Given the description of an element on the screen output the (x, y) to click on. 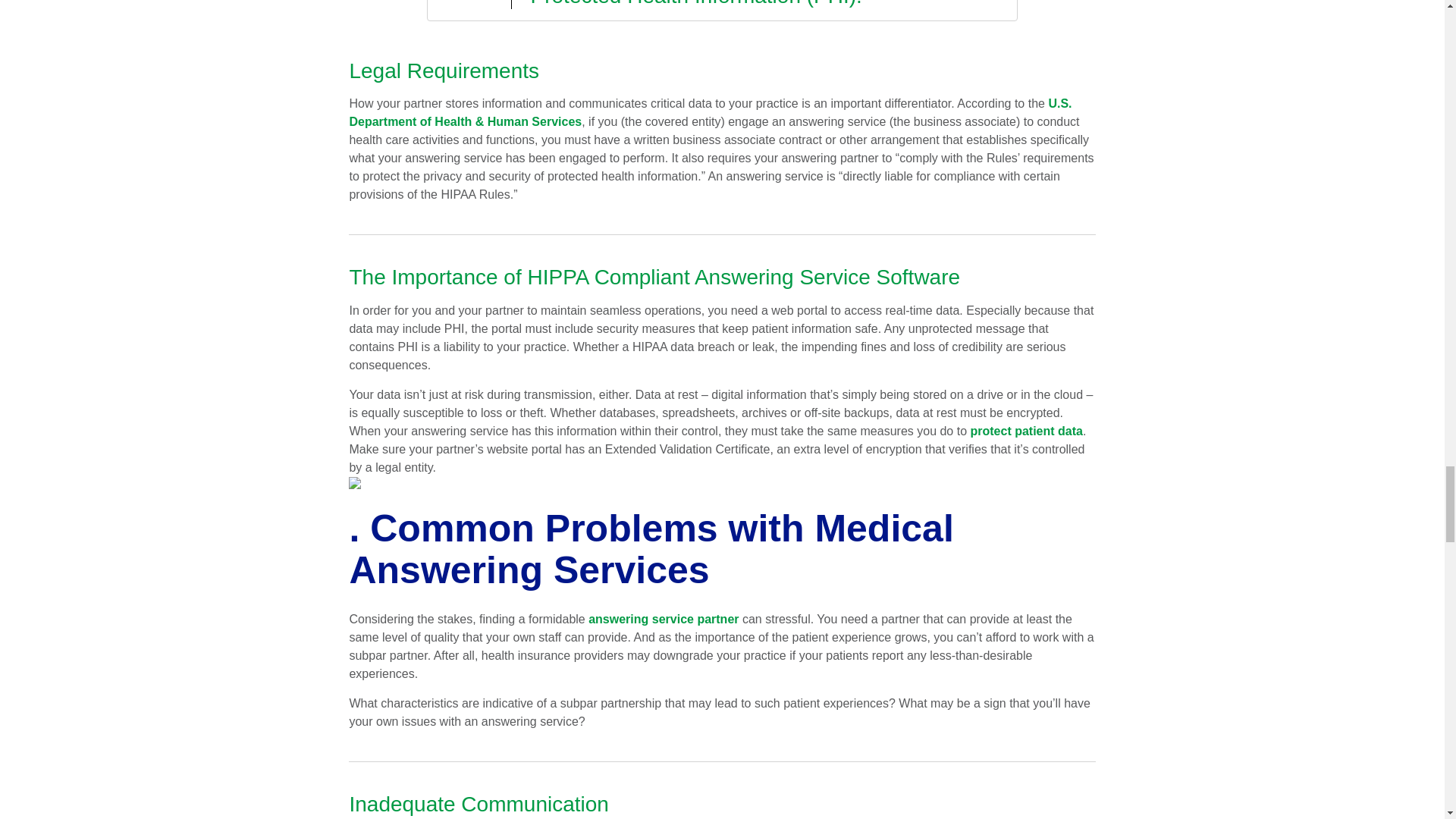
protect patient data (1027, 431)
answering service partner (663, 618)
